Given the description of an element on the screen output the (x, y) to click on. 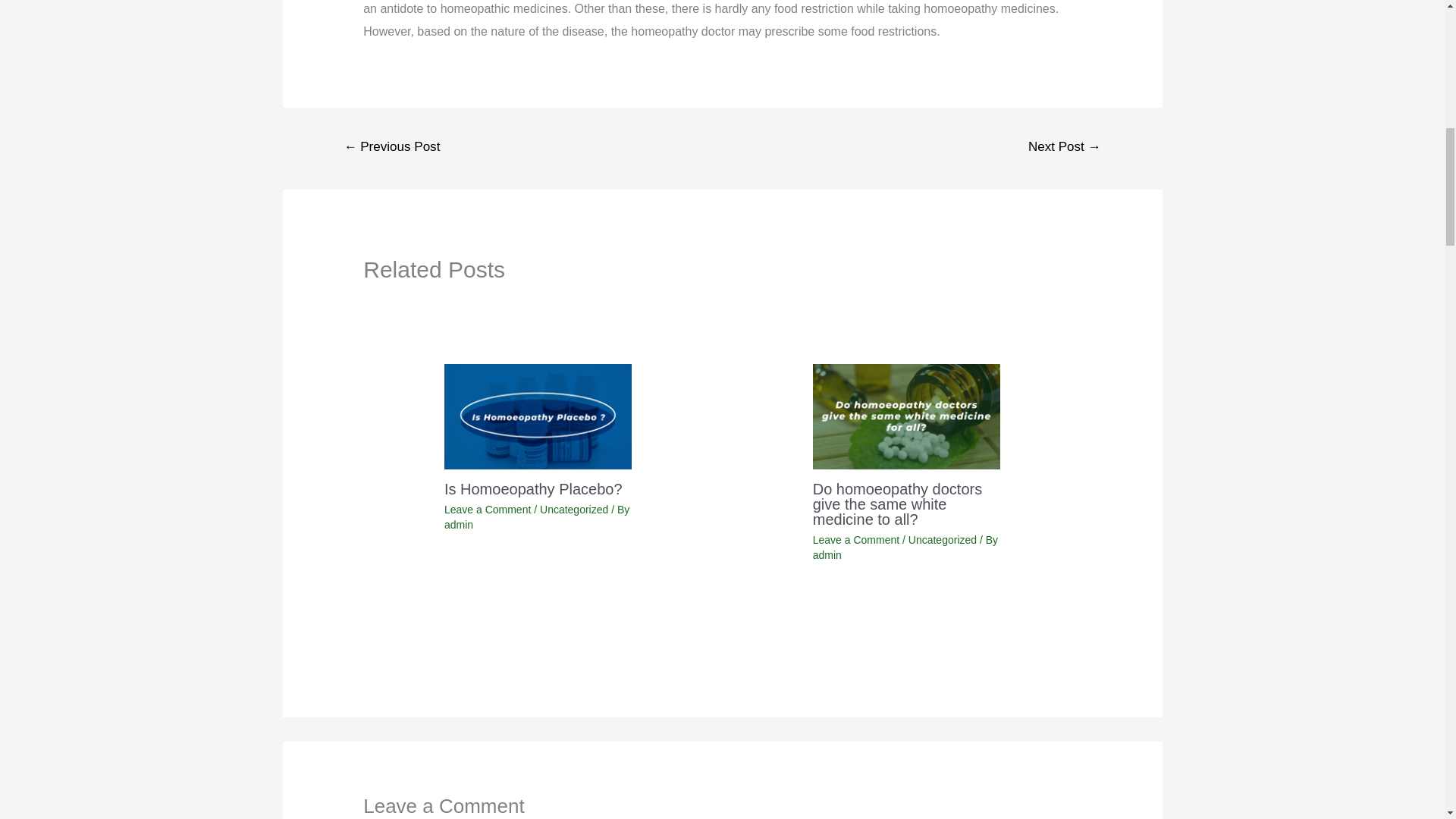
Uncategorized (574, 509)
Is Homoeopathy Placebo? (533, 488)
admin (458, 524)
admin (826, 554)
View all posts by admin (826, 554)
Leave a Comment (487, 509)
Do homoeopathy doctors give the same white medicine to all? (896, 503)
View all posts by admin (458, 524)
Uncategorized (942, 539)
Leave a Comment (855, 539)
